Given the description of an element on the screen output the (x, y) to click on. 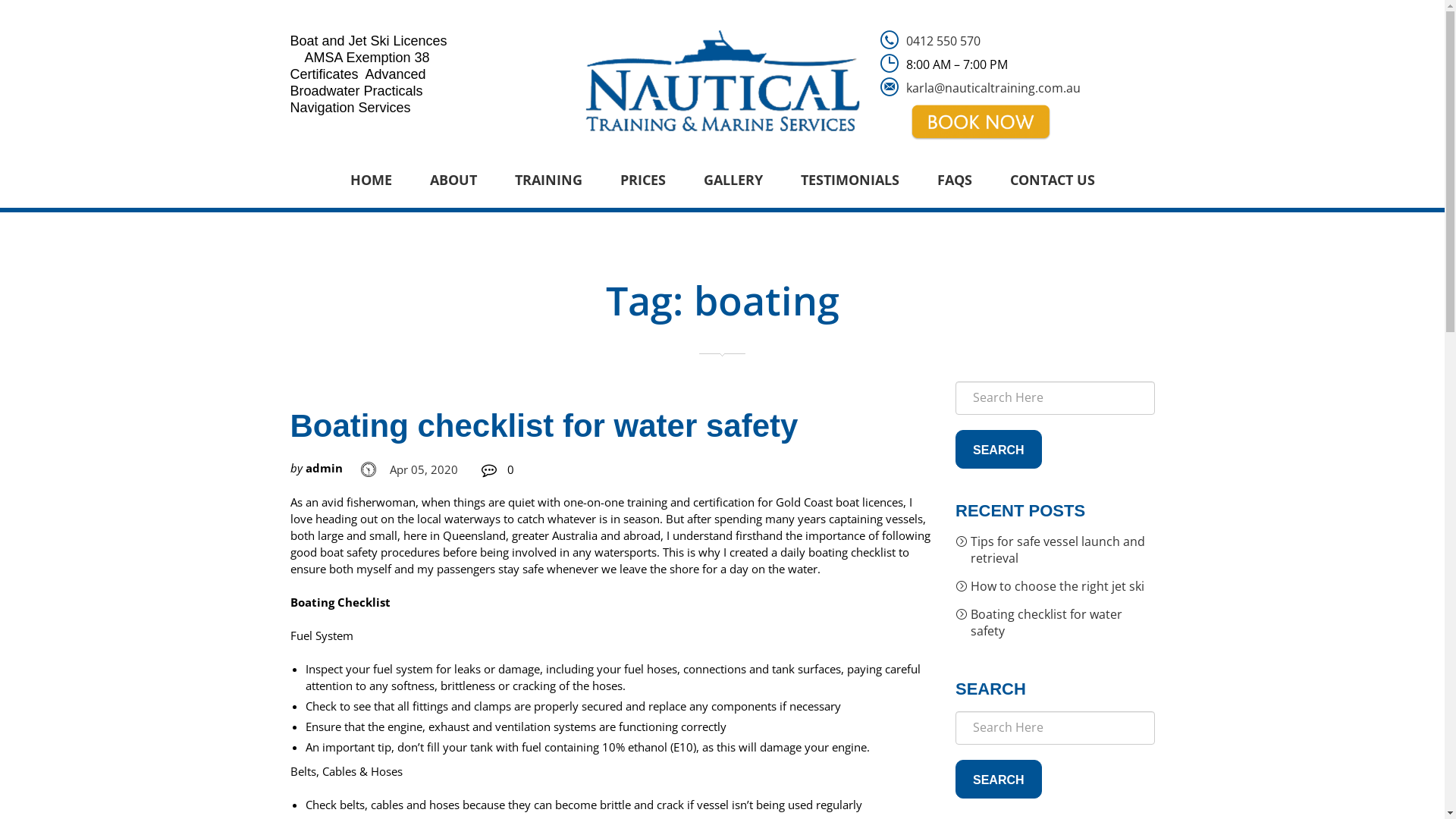
Boating checklist for water safety Element type: text (543, 425)
GALLERY Element type: text (732, 179)
PRICES Element type: text (642, 179)
How to choose the right jet ski Element type: text (1054, 589)
0412 550 570 Element type: text (943, 40)
Apr 05, 2020 Element type: text (422, 467)
HOME Element type: text (370, 179)
TESTIMONIALS Element type: text (849, 179)
FAQS Element type: text (953, 179)
Tips for safe vessel launch and retrieval Element type: text (1054, 553)
karla@nauticaltraining.com.au Element type: text (993, 87)
TRAINING Element type: text (548, 179)
ABOUT Element type: text (453, 179)
SEARCH Element type: text (998, 778)
Boating checklist for water safety Element type: text (1054, 625)
SEARCH Element type: text (998, 448)
CONTACT US Element type: text (1051, 179)
